Given the description of an element on the screen output the (x, y) to click on. 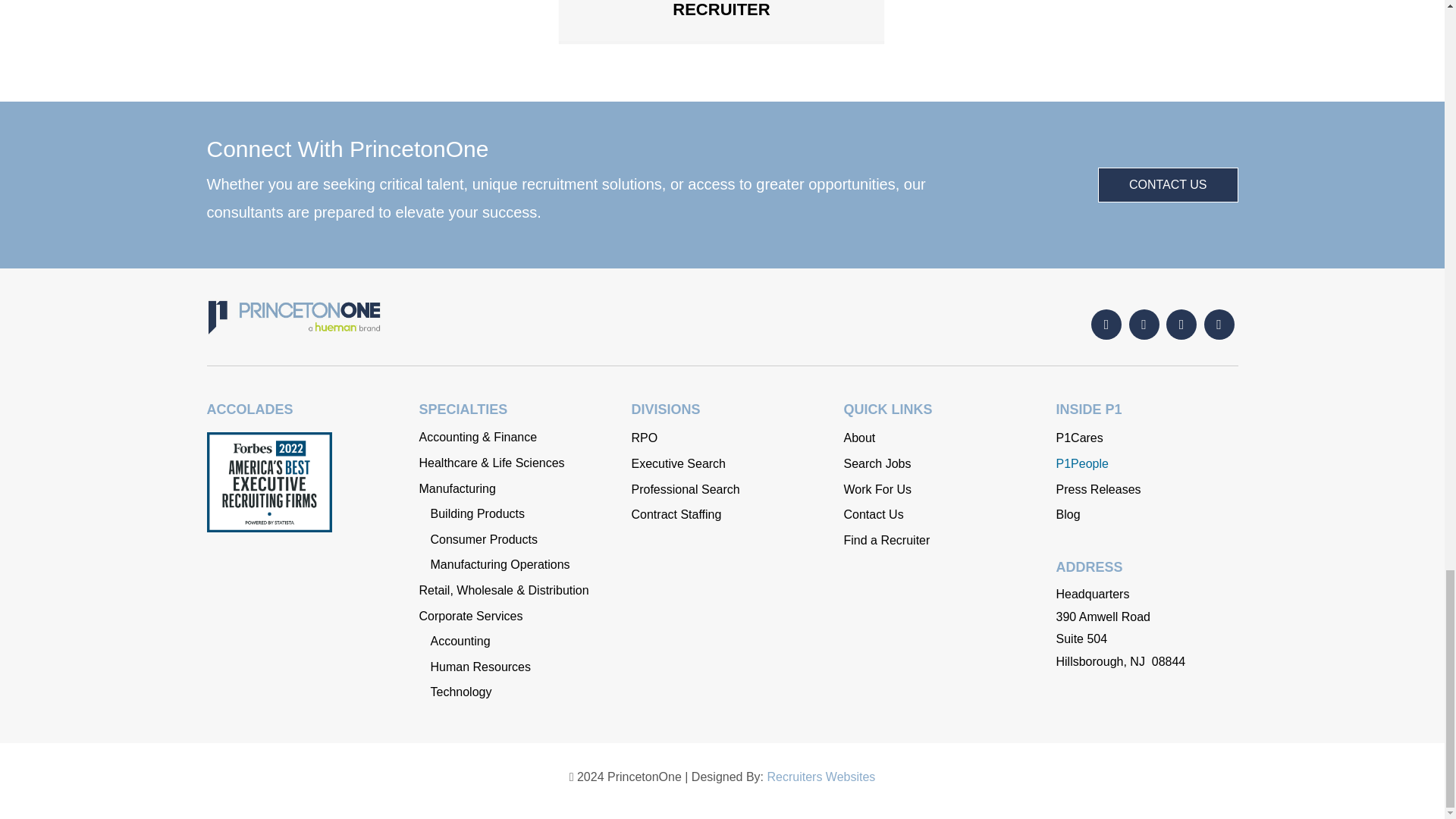
Meet Hannah Temple, Recruiter (721, 9)
